Given the description of an element on the screen output the (x, y) to click on. 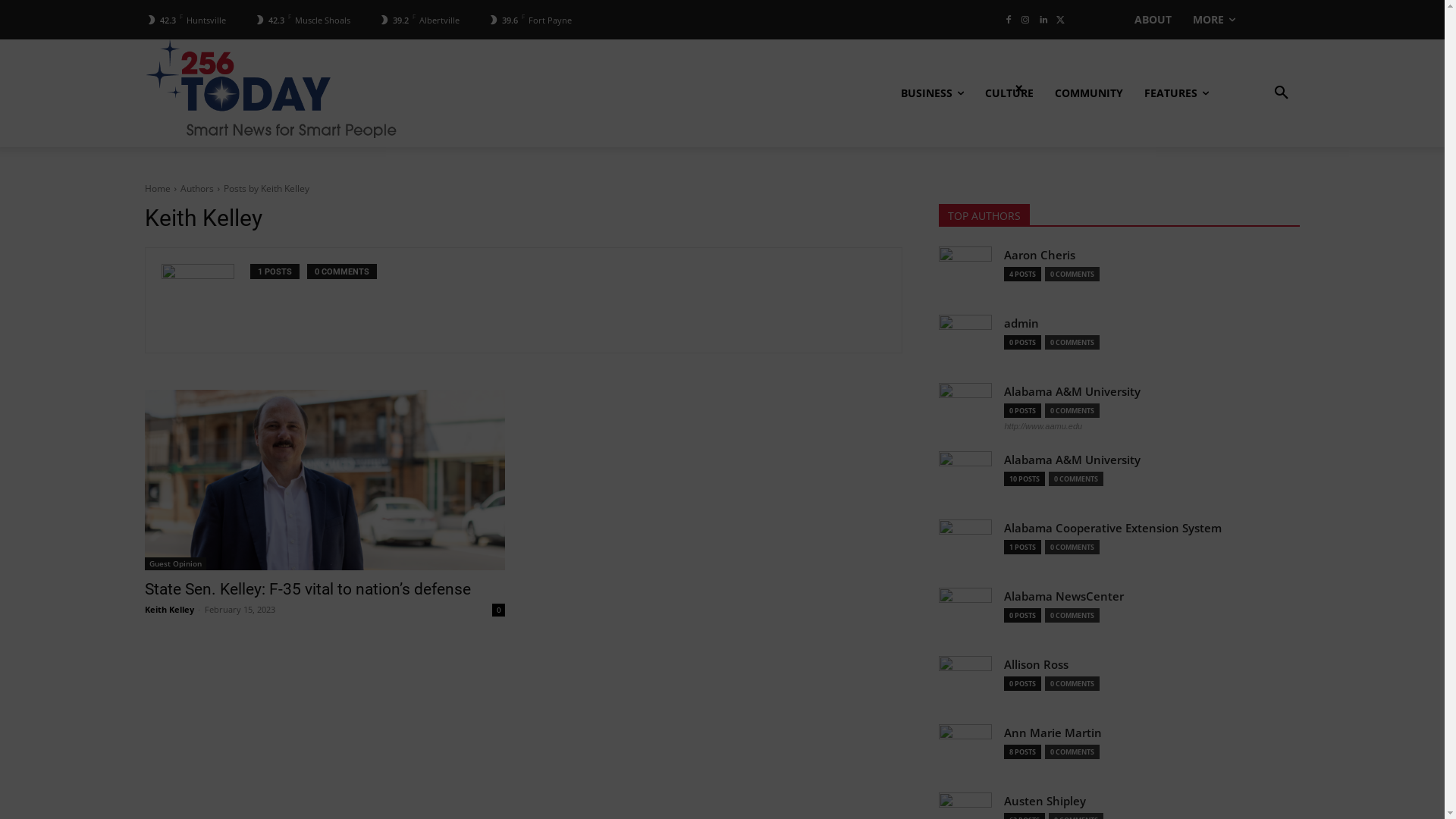
Home Element type: text (156, 188)
FEATURES Element type: text (1176, 92)
Guest Opinion Element type: text (174, 563)
Ann Marie Martin Element type: text (1052, 733)
Austen Shipley Element type: text (1044, 801)
Keith Kelley Element type: text (168, 609)
Posts by Keith Kelley Element type: text (265, 188)
BUSINESS Element type: text (932, 92)
Facebook Element type: hover (1008, 19)
ABOUT Element type: text (1152, 19)
Alabama A&M University Element type: text (1072, 460)
Allison Ross Element type: text (1036, 665)
Alabama NewsCenter Element type: text (1063, 597)
Aaron Cheris Element type: text (1039, 255)
Alabama A&M University Element type: text (1072, 392)
0 Element type: text (498, 609)
CULTURE Element type: text (1009, 92)
admin Element type: text (1021, 324)
Twitter Element type: hover (1060, 19)
http://www.aamu.edu Element type: text (1043, 425)
Linkedin Element type: hover (1042, 19)
Alabama Cooperative Extension System Element type: text (1112, 528)
COMMUNITY Element type: text (1088, 92)
Instagram Element type: hover (1025, 19)
